Given the description of an element on the screen output the (x, y) to click on. 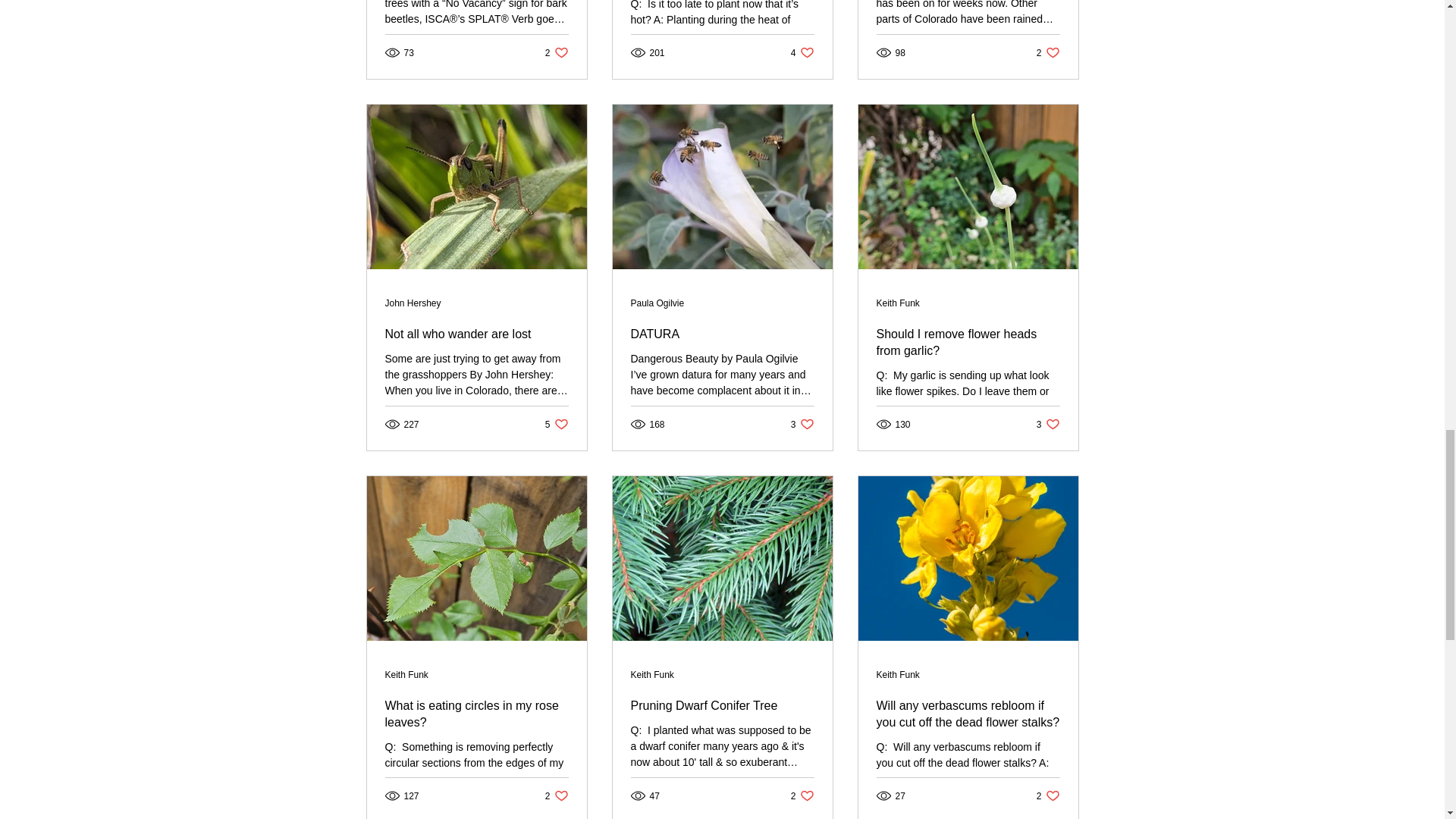
Keith Funk (898, 674)
Not all who wander are lost (1047, 52)
Paula Ogilvie (477, 334)
Keith Funk (657, 302)
Keith Funk (898, 302)
John Hershey (556, 52)
Keith Funk (652, 674)
